Given the description of an element on the screen output the (x, y) to click on. 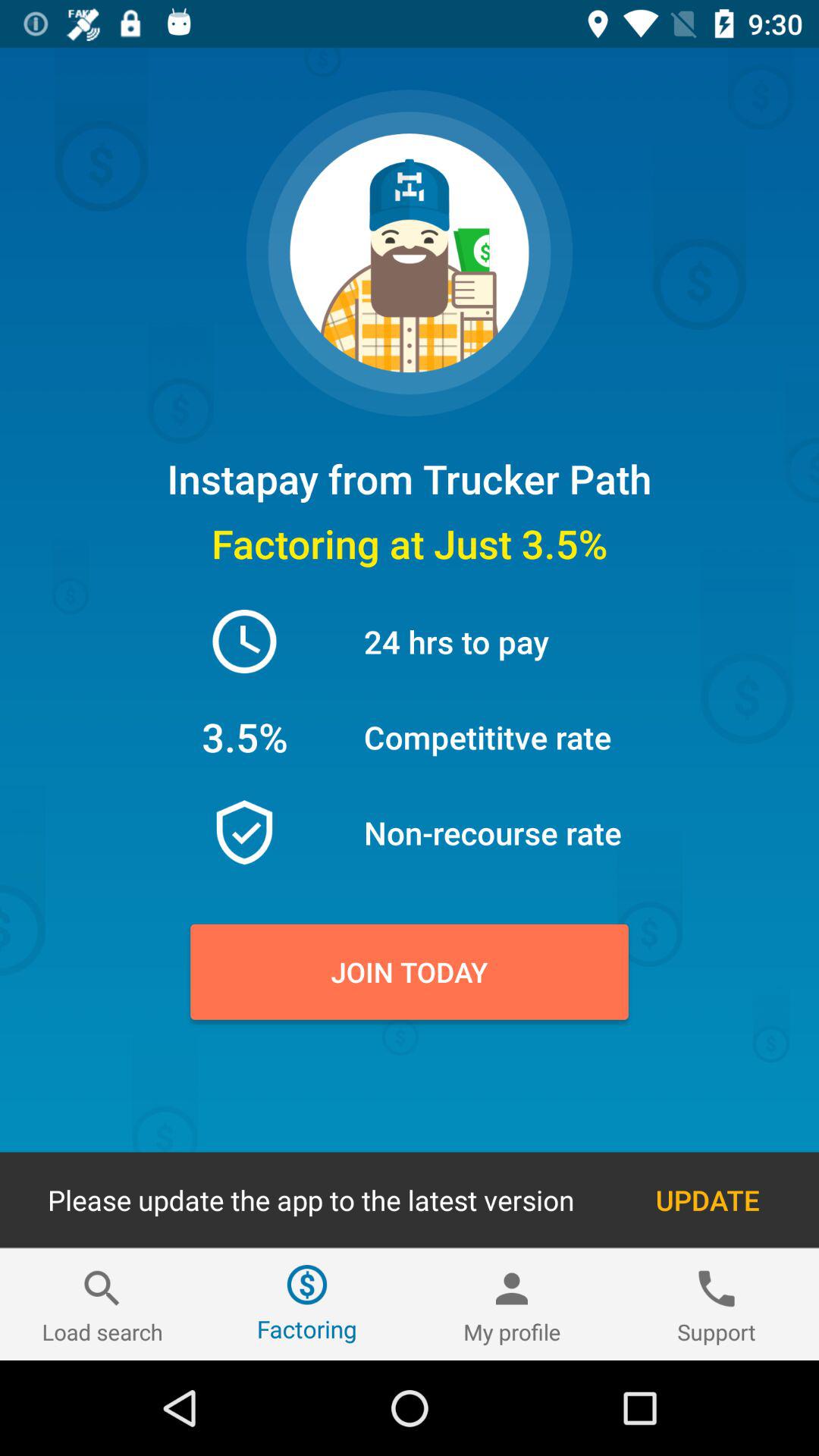
press the item to the right of the factoring item (511, 1304)
